Given the description of an element on the screen output the (x, y) to click on. 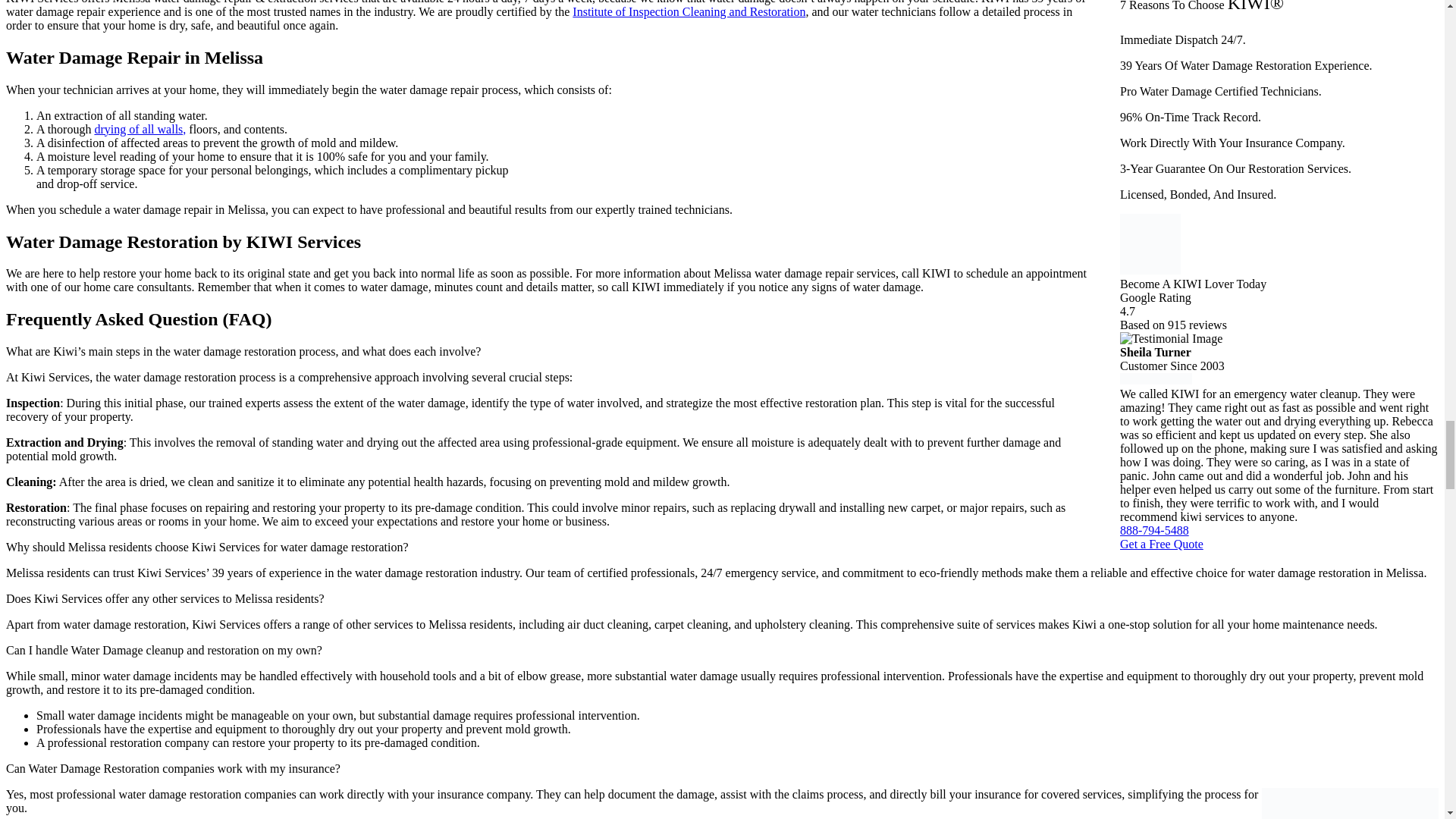
phone number (1154, 530)
IICRC (688, 11)
Get a Free Quote (1161, 543)
